Given the description of an element on the screen output the (x, y) to click on. 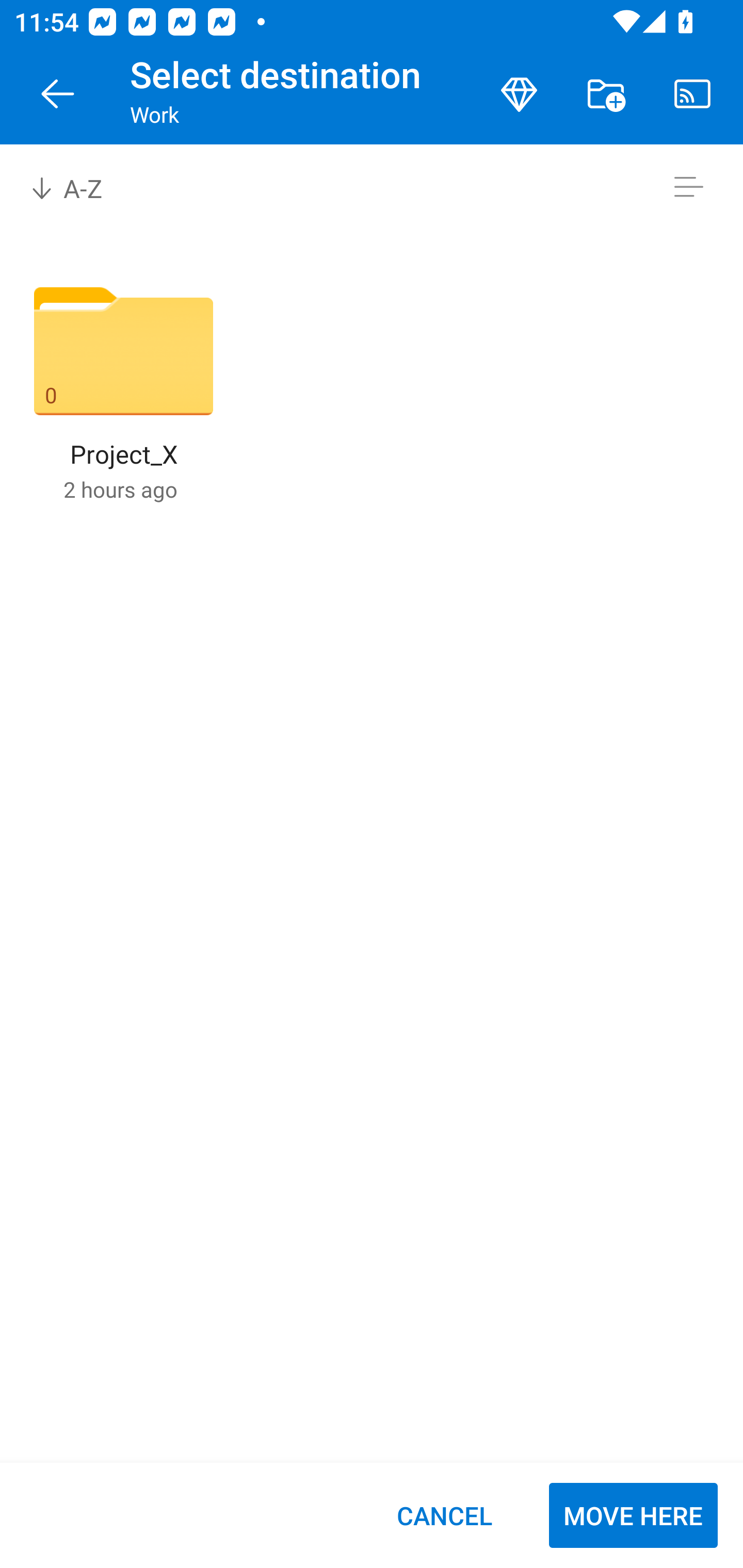
Navigate Up (57, 93)
Cast. Disconnected (692, 93)
Premium button (518, 93)
More actions button (605, 93)
A-Z Sort by combo box, sort by name, A to Z (80, 187)
Switch to list view (688, 187)
Folder Folder 0 0 items Project_X 2 hours ago (123, 393)
2 hours ago (119, 489)
CANCEL (443, 1515)
MOVE HERE (633, 1515)
